Given the description of an element on the screen output the (x, y) to click on. 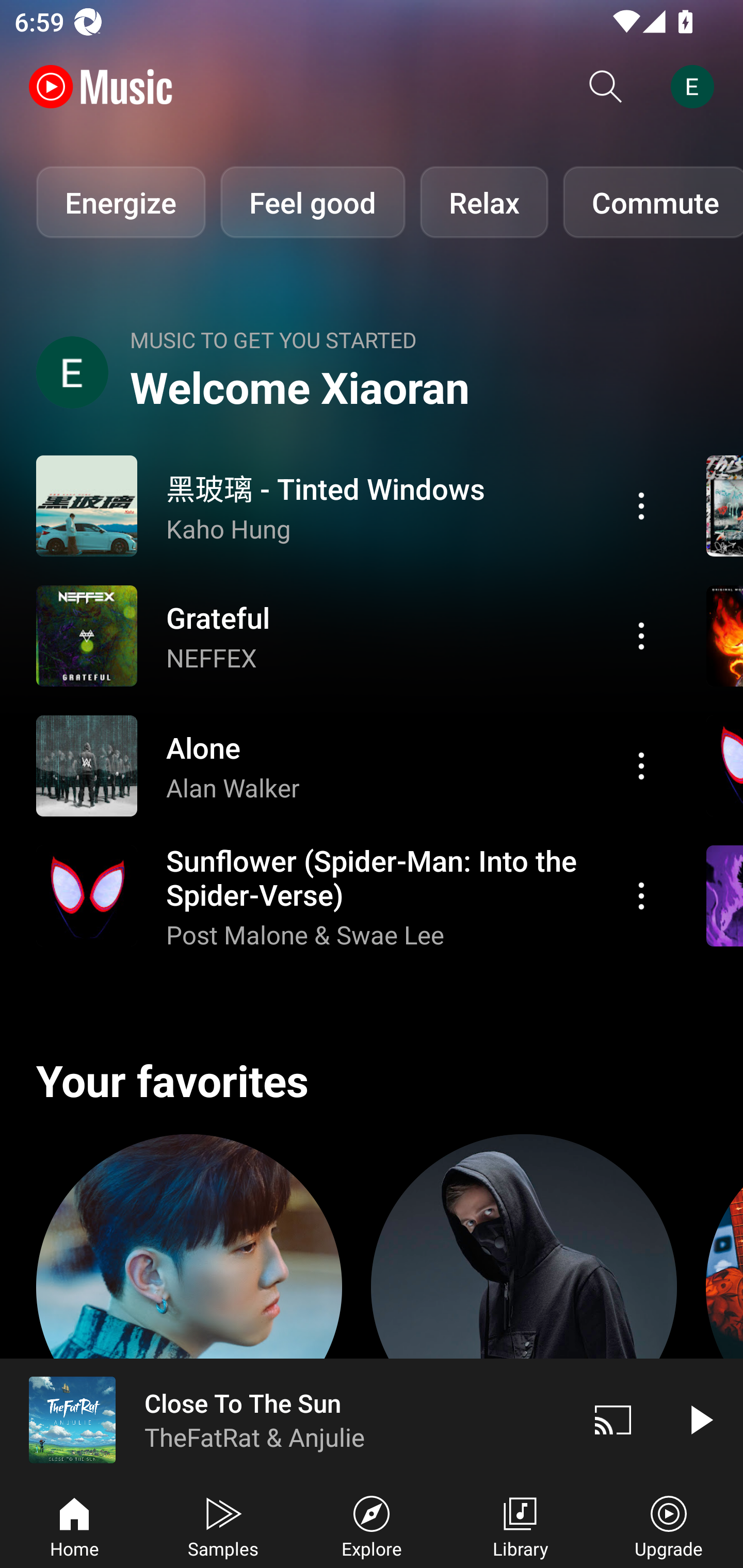
Search (605, 86)
Account (696, 86)
Action menu (349, 505)
Action menu (641, 505)
Action menu (349, 635)
Action menu (641, 635)
Action menu (349, 765)
Action menu (641, 765)
Action menu (349, 896)
Action menu (641, 896)
Close To The Sun TheFatRat & Anjulie (284, 1419)
Cast. Disconnected (612, 1419)
Play video (699, 1419)
Samples (222, 1524)
Explore (371, 1524)
Library (519, 1524)
Upgrade (668, 1524)
